Given the description of an element on the screen output the (x, y) to click on. 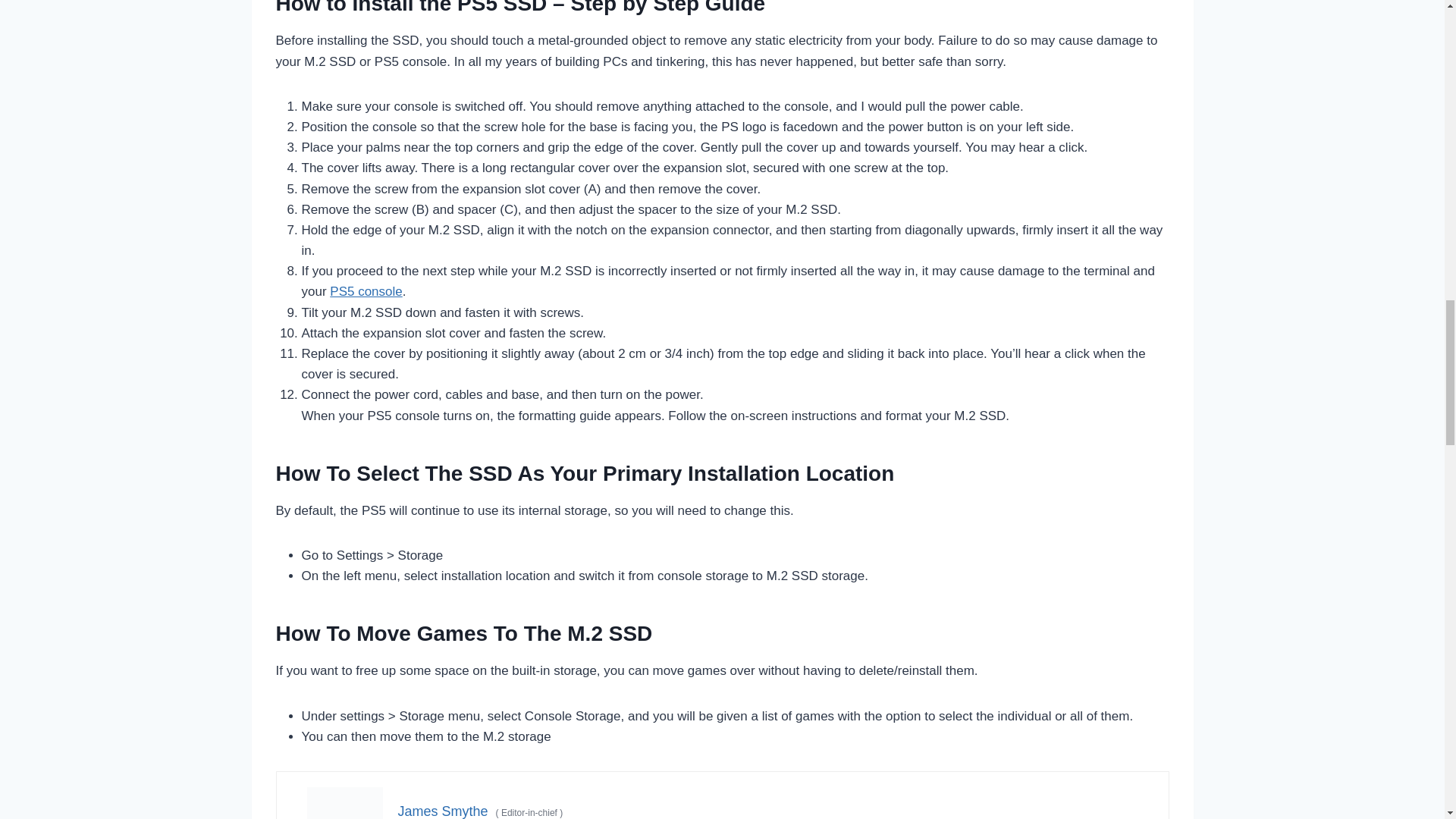
James Smythe (442, 811)
6658afeebfcb2c289ed52f37daf69159 (343, 803)
PS5 console (365, 291)
